Given the description of an element on the screen output the (x, y) to click on. 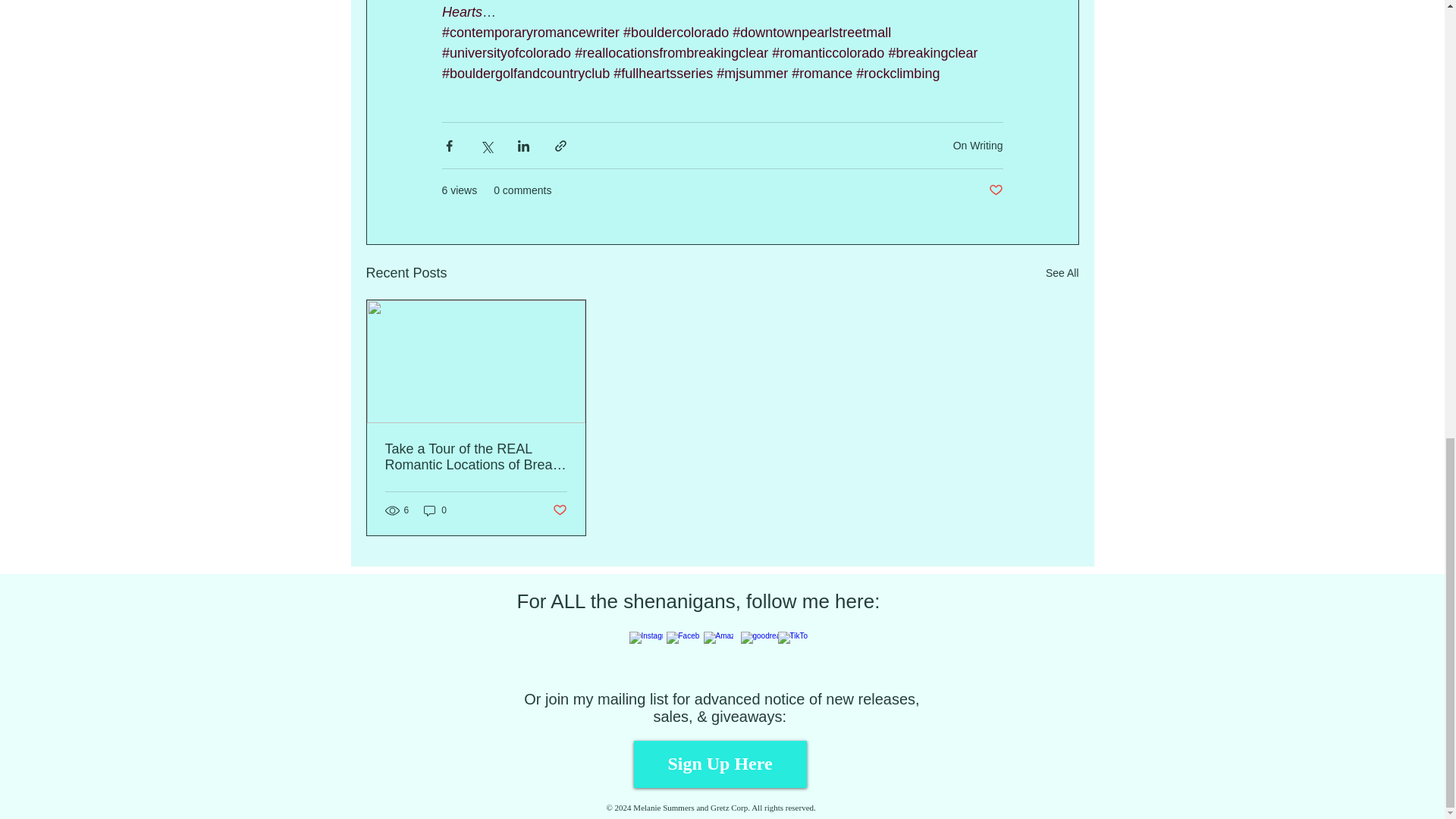
0 (435, 510)
Post not marked as liked (995, 190)
Post not marked as liked (558, 509)
See All (1061, 273)
On Writing (978, 145)
Breaking Hearts (700, 9)
Take a Tour of the REAL Romantic Locations of Break in Two (476, 457)
